Given the description of an element on the screen output the (x, y) to click on. 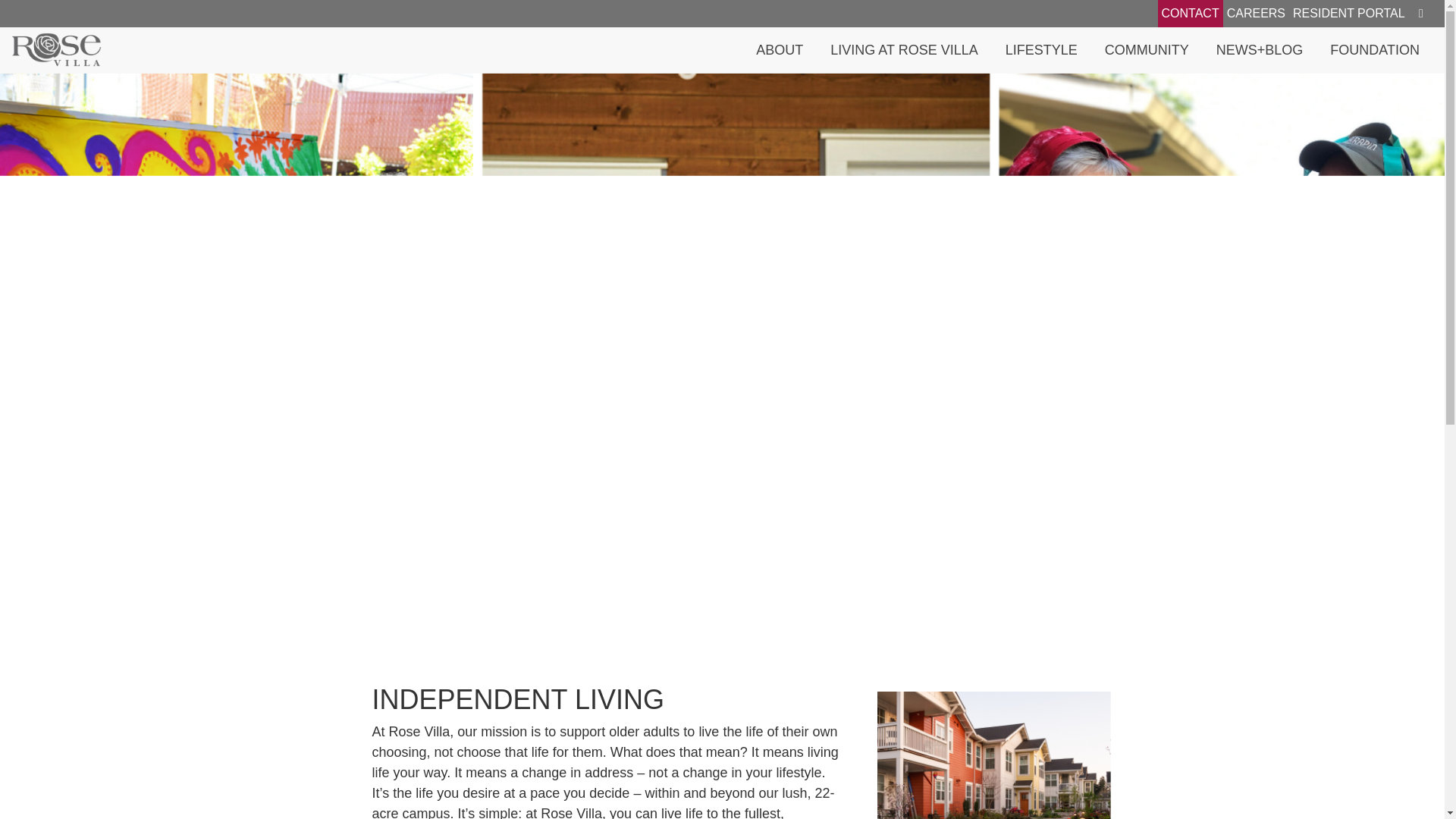
CONTACT (1190, 13)
RESIDENT PORTAL (1348, 13)
CAREERS (1255, 13)
